Given the description of an element on the screen output the (x, y) to click on. 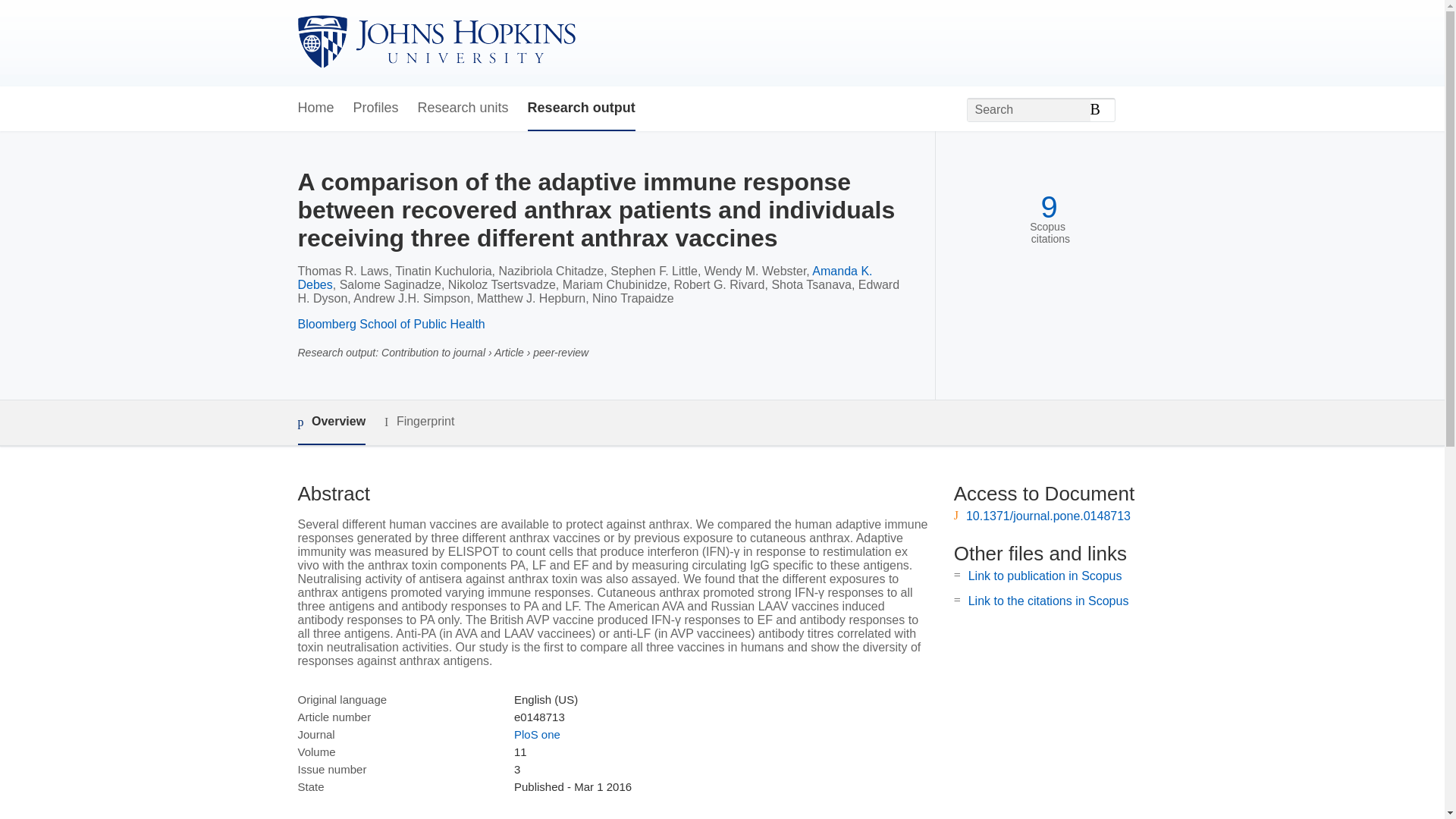
Johns Hopkins University Home (436, 43)
Amanda K. Debes (584, 277)
Research units (462, 108)
Overview (331, 422)
PloS one (536, 734)
Link to the citations in Scopus (1048, 600)
Research output (580, 108)
Profiles (375, 108)
Bloomberg School of Public Health (390, 323)
Link to publication in Scopus (1045, 575)
Fingerprint (419, 421)
